Given the description of an element on the screen output the (x, y) to click on. 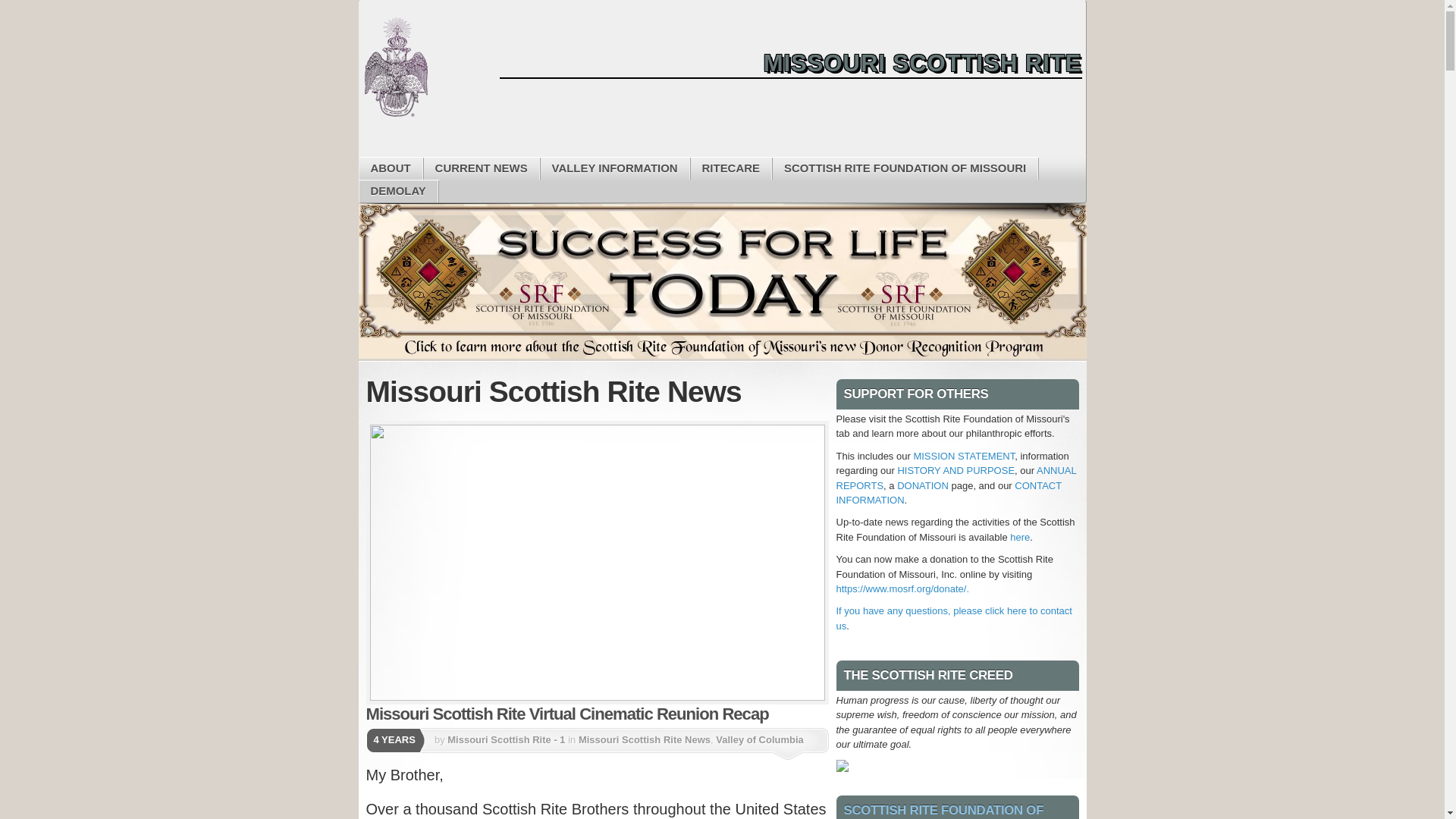
Valley of Joplin News (515, 763)
CURRENT NEWS (480, 168)
Missouri Scottish Rite News (644, 739)
ABOUT (390, 168)
Missouri Scottish Rite - 1 (505, 739)
Missouri Scottish Rite Virtual Cinematic Reunion Recap (566, 713)
MISSOURI SCOTTISH RITE (790, 62)
Missouri Scottish Rite Virtual Cinematic Reunion Recap (596, 562)
Valley of Columbia News (618, 751)
